Given the description of an element on the screen output the (x, y) to click on. 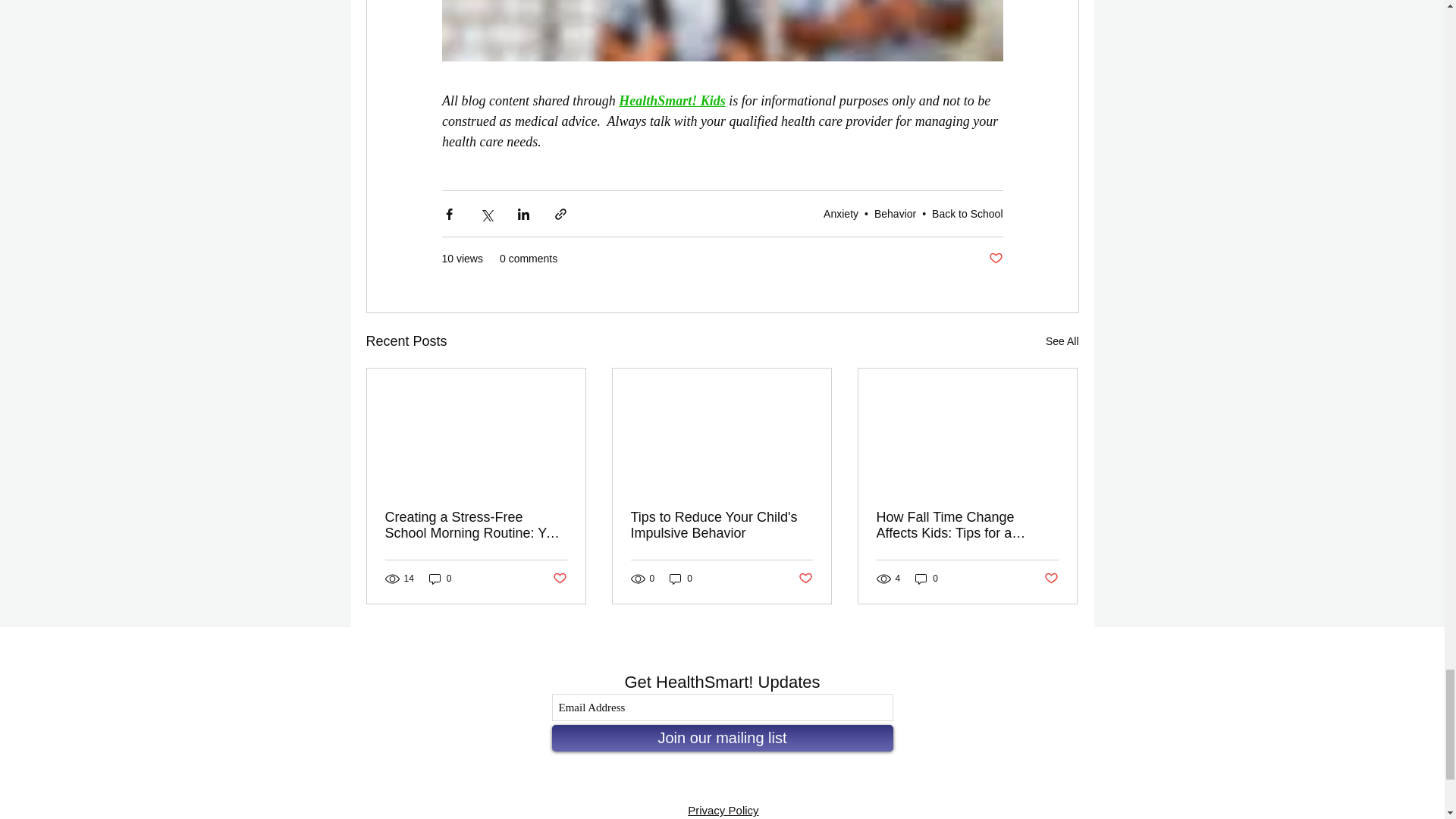
0 (440, 578)
Post not marked as liked (995, 258)
See All (1061, 341)
0 (681, 578)
Post not marked as liked (558, 578)
Post not marked as liked (804, 578)
Creating a Stress-Free School Morning Routine: Your Guide (476, 525)
Back to School (967, 214)
Tips to Reduce Your Child's Impulsive Behavior (721, 525)
